Given the description of an element on the screen output the (x, y) to click on. 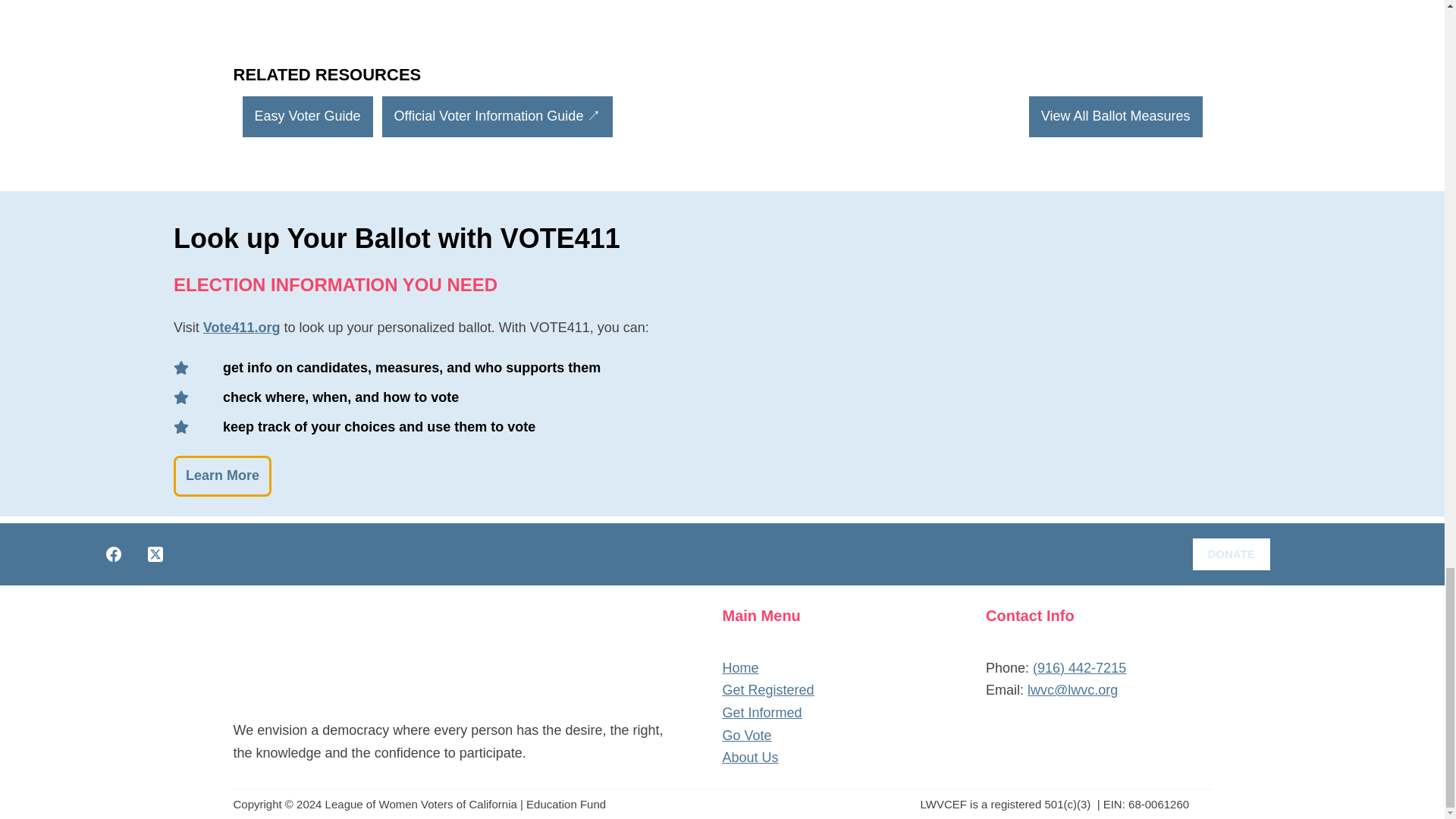
Vote411 (228, 327)
View All Ballot Measures (1115, 116)
Easy Voter Guide (307, 116)
Learn More (221, 475)
.org (266, 327)
